Given the description of an element on the screen output the (x, y) to click on. 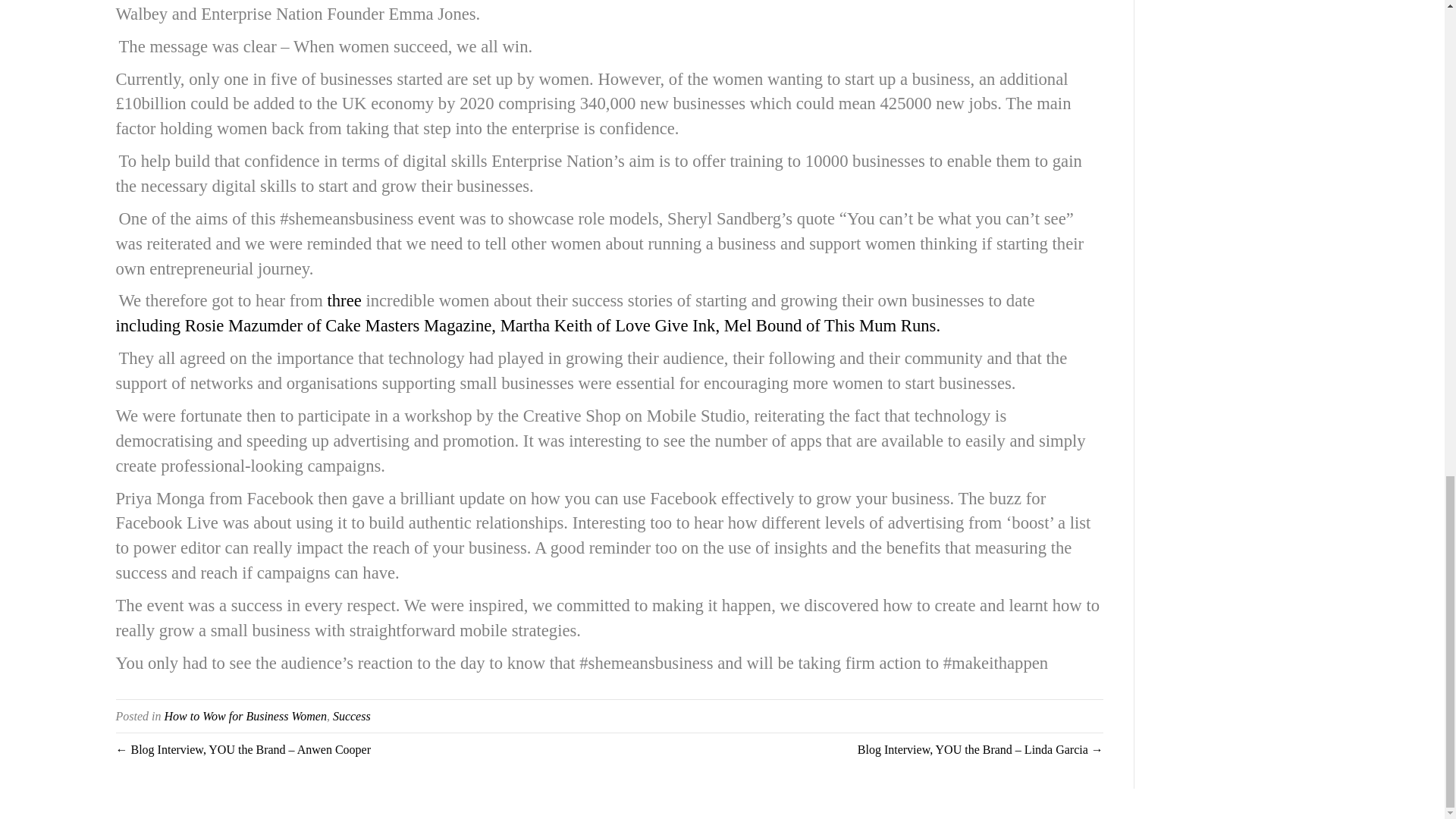
Cake Masters Magazine (408, 325)
How to Wow for Business Women (244, 716)
Success (352, 716)
Love Give Ink (664, 325)
This Mum Runs (880, 325)
